Given the description of an element on the screen output the (x, y) to click on. 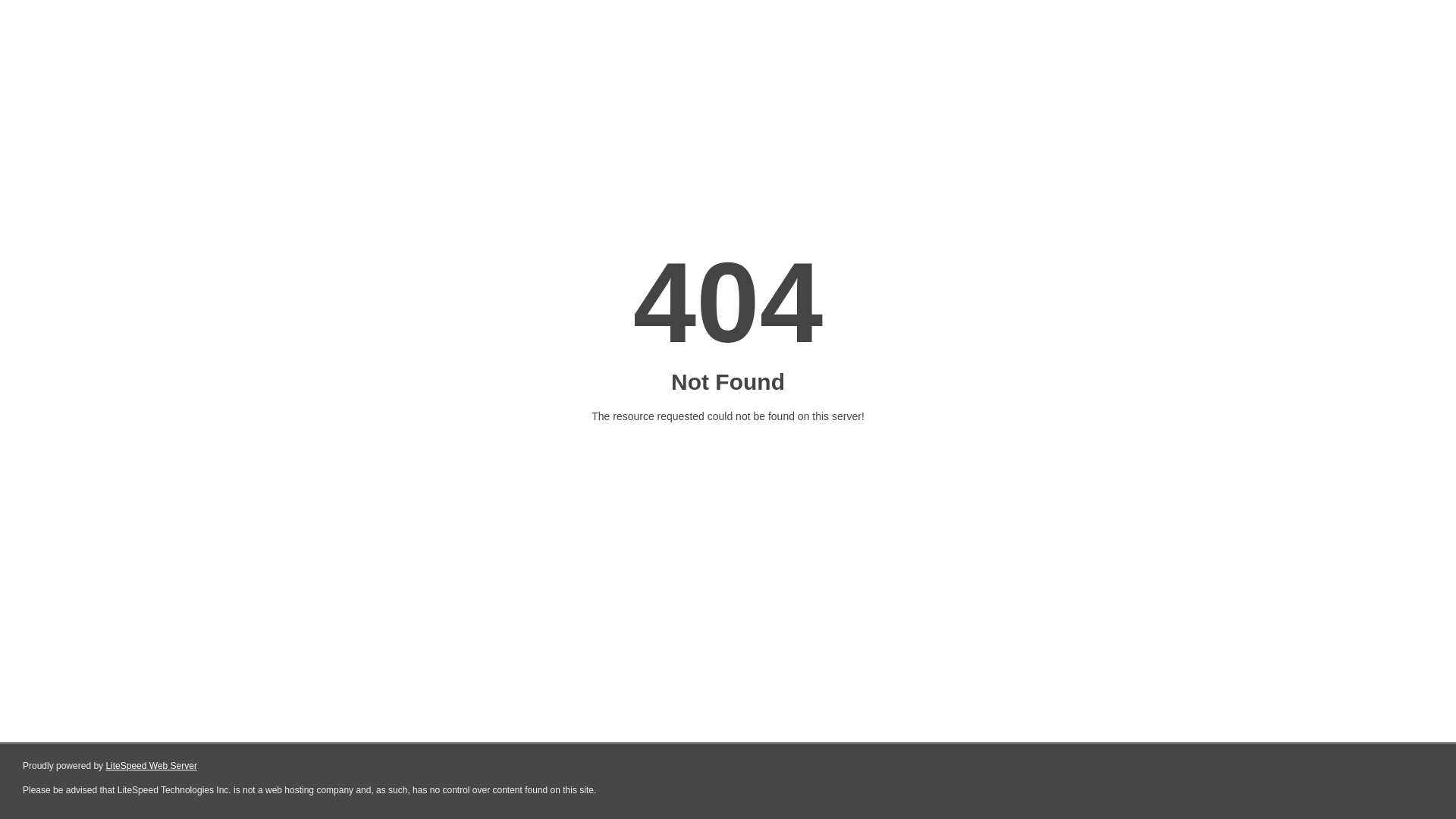
LiteSpeed Web Server Element type: text (151, 765)
